Given the description of an element on the screen output the (x, y) to click on. 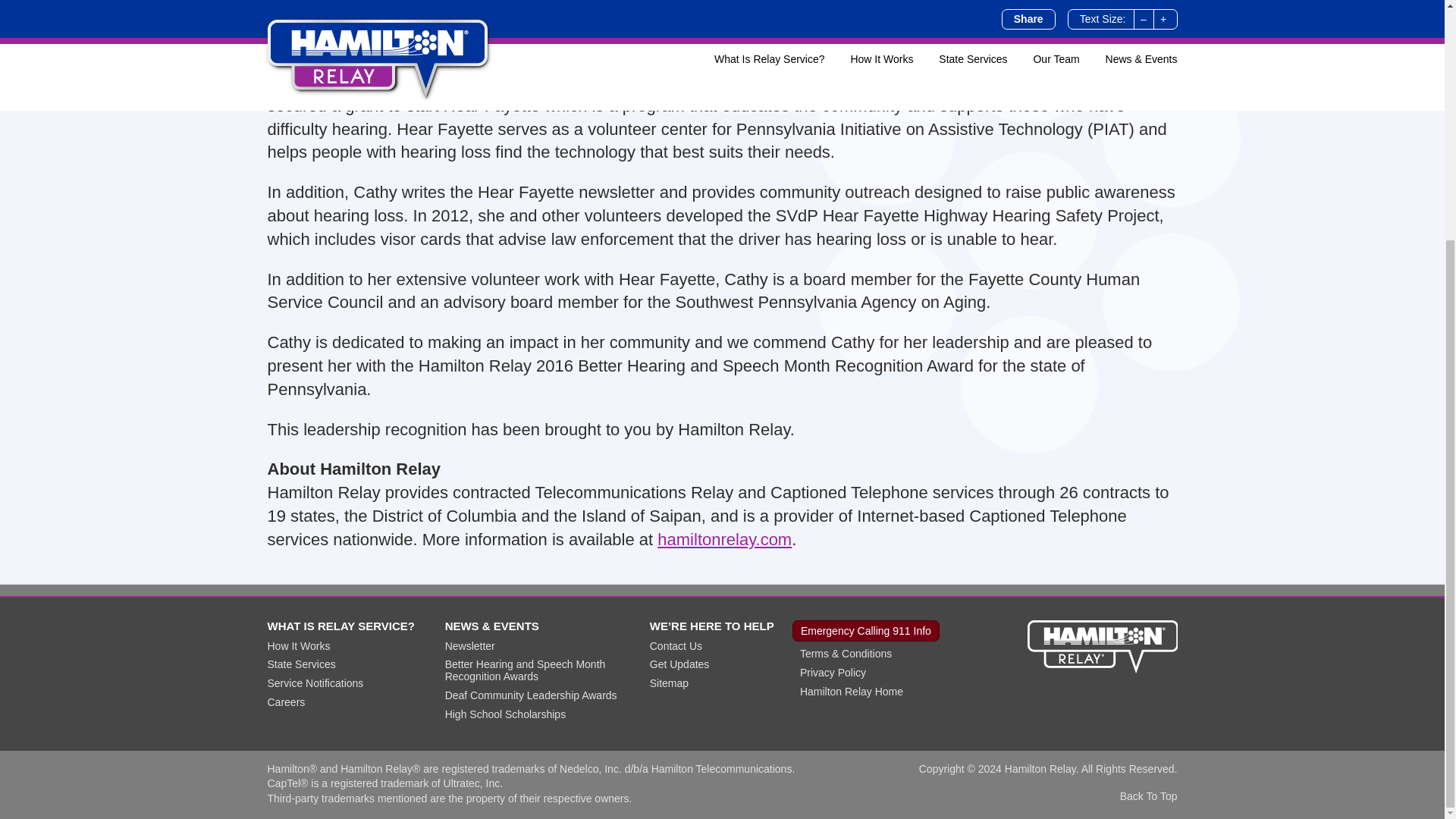
Privacy Policy (832, 672)
Community (545, 684)
About Hamilton Relay (721, 669)
High School Scholarships (505, 714)
Service Notifications (314, 683)
hamiltonrelay.com (725, 538)
Deaf Community Leadership Awards (531, 695)
Relay Services (352, 678)
Go to the HamiltonRelay.com home page (1101, 645)
Hamilton Relay Home (850, 691)
